Given the description of an element on the screen output the (x, y) to click on. 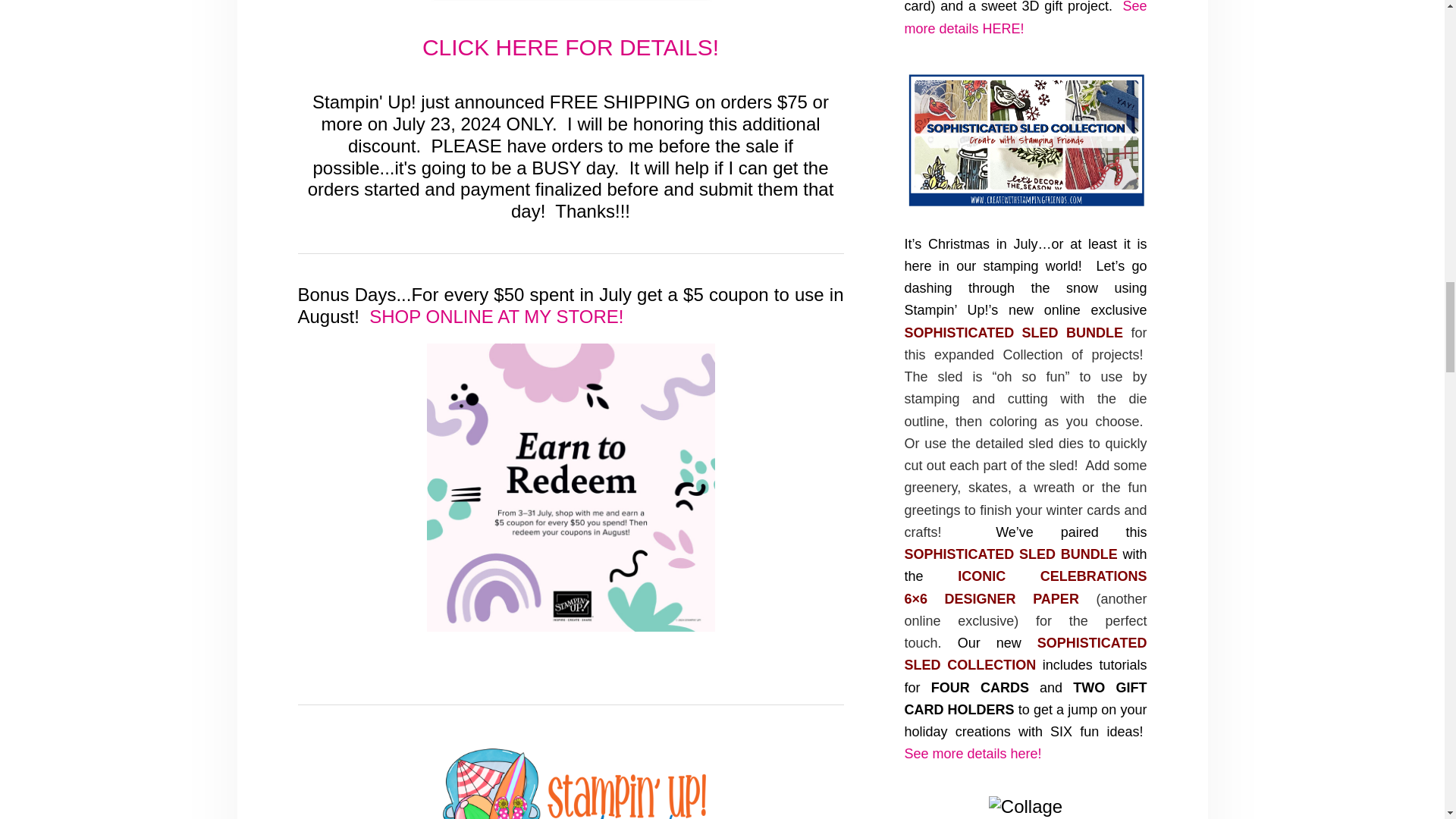
SHOP ONLINE AT MY STORE! (494, 316)
CLICK HERE FOR DETAILS! (570, 47)
